Given the description of an element on the screen output the (x, y) to click on. 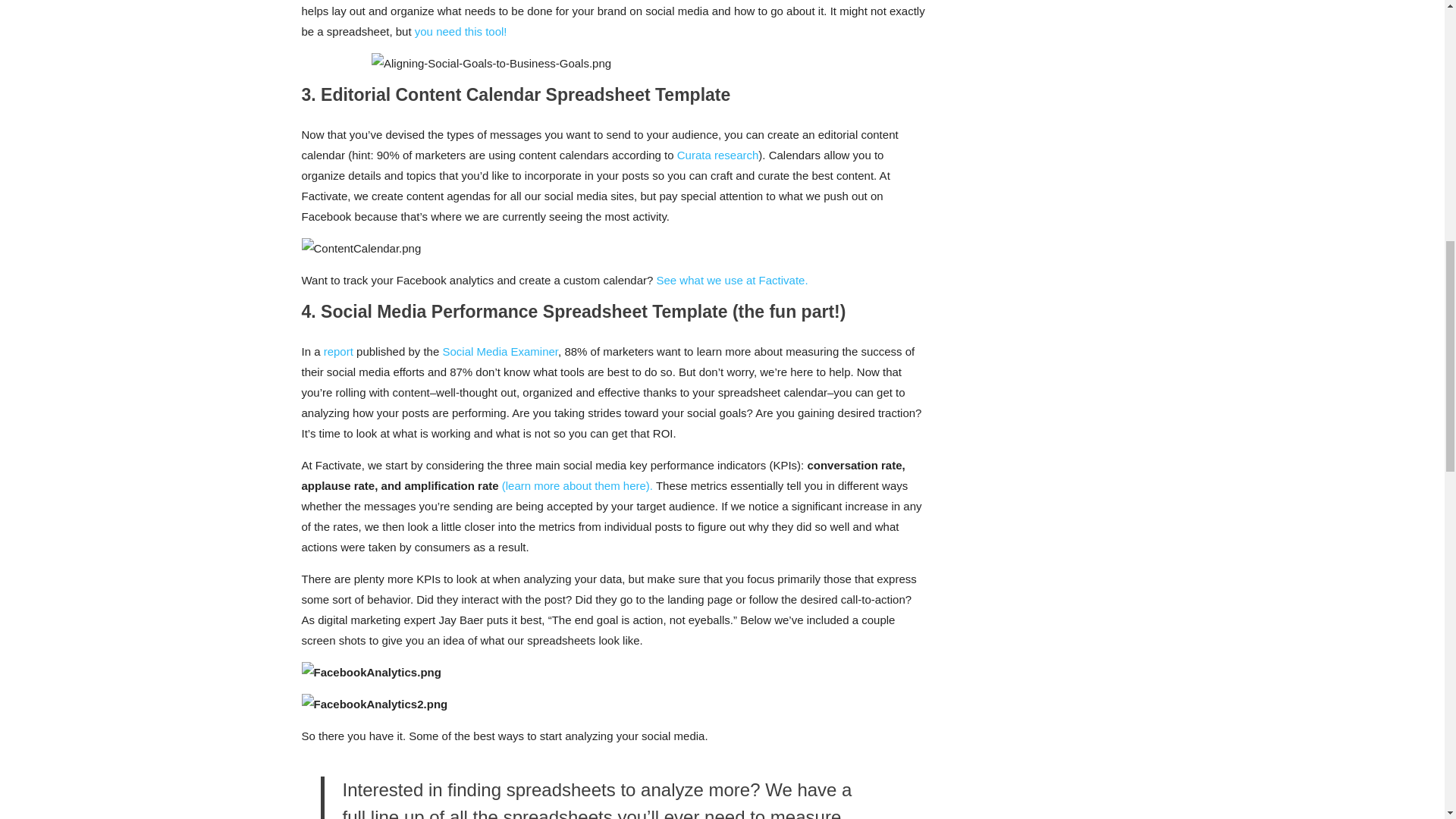
report (338, 350)
Curata research (717, 154)
Social Media Examiner (499, 350)
you need this tool! (460, 31)
See what we use at Factivate. (732, 279)
